Given the description of an element on the screen output the (x, y) to click on. 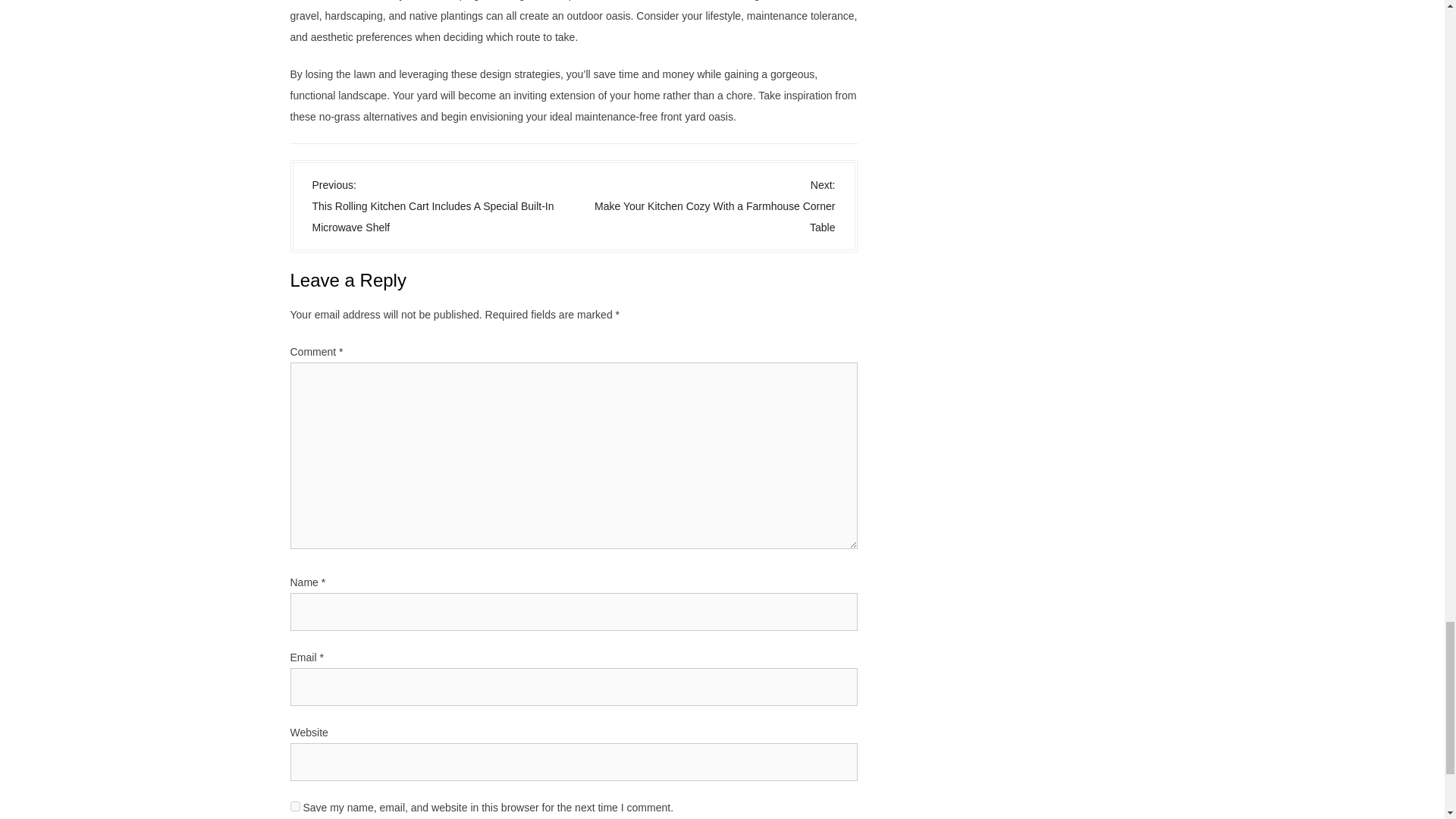
yes (294, 806)
